Given the description of an element on the screen output the (x, y) to click on. 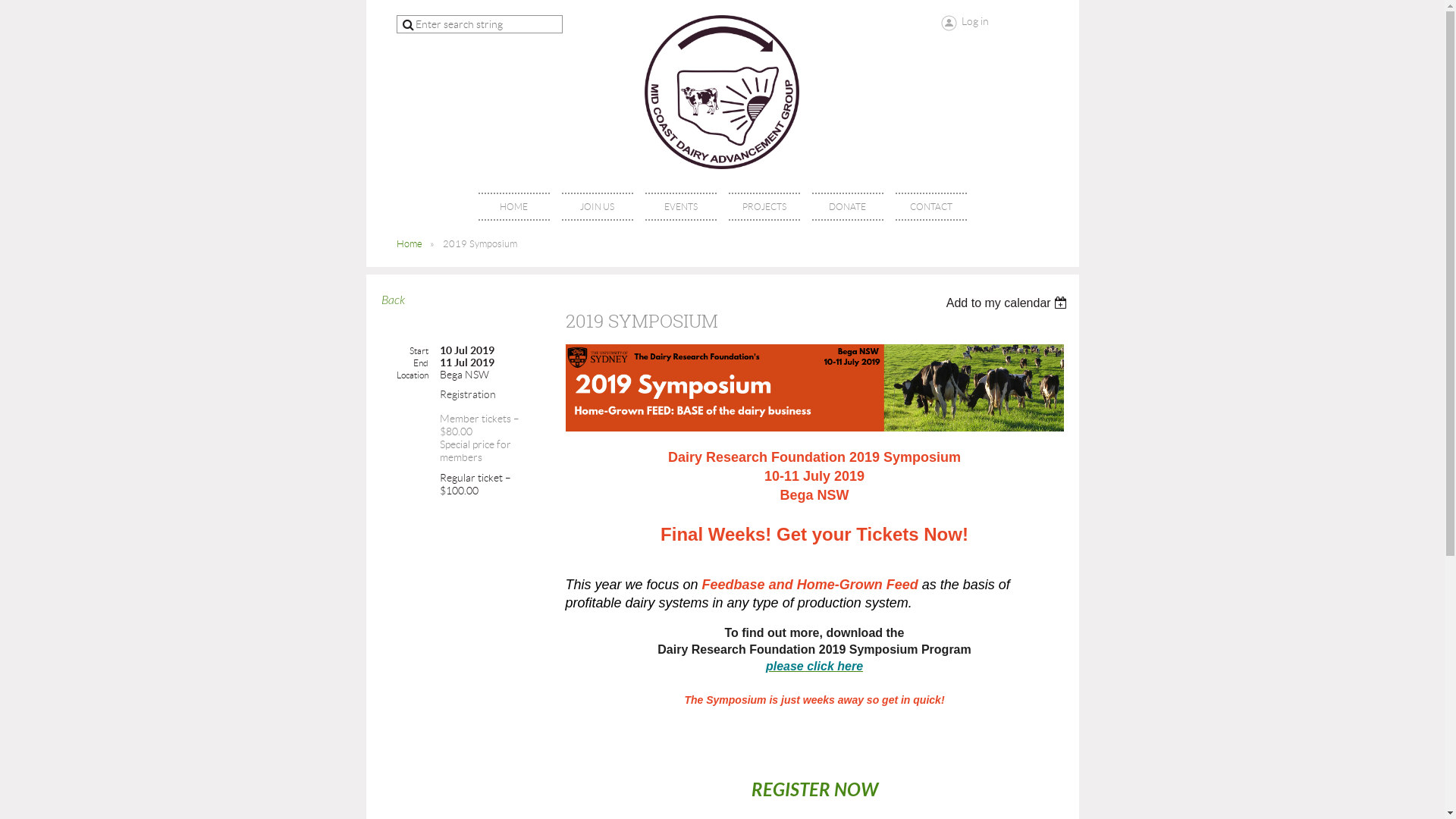
PROJECTS Element type: text (763, 206)
Log in Element type: text (964, 23)
Home Element type: text (408, 243)
JOIN US Element type: text (596, 206)
DONATE Element type: text (846, 206)
CONTACT Element type: text (930, 206)
HOME Element type: text (513, 206)
please click here Element type: text (813, 665)
REGISTER NOW Element type: text (813, 792)
Back Element type: text (392, 300)
EVENTS Element type: text (679, 206)
